Given the description of an element on the screen output the (x, y) to click on. 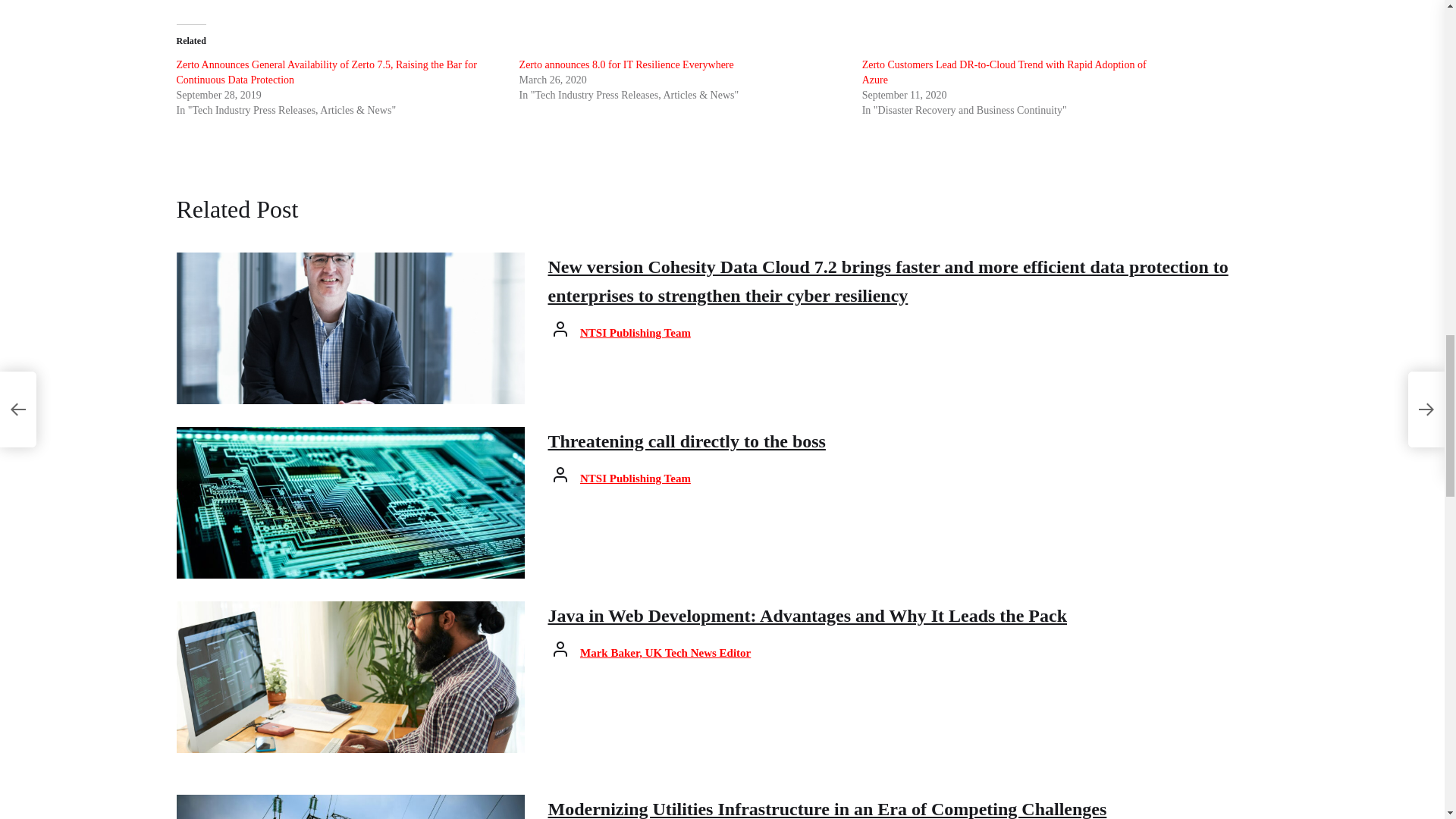
Zerto announces 8.0 for IT Resilience Everywhere (626, 64)
